Given the description of an element on the screen output the (x, y) to click on. 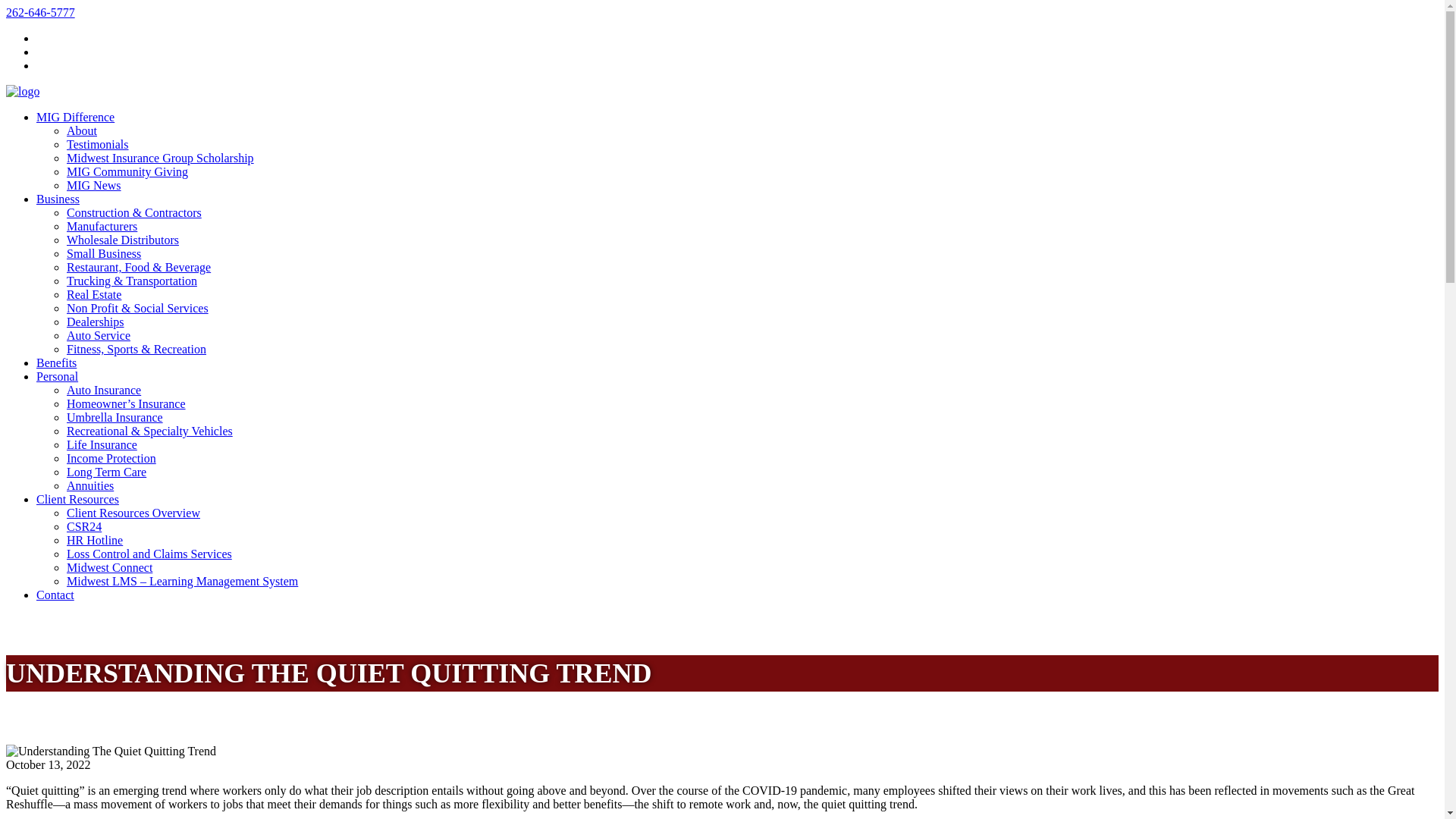
262-646-5777 (40, 11)
Midwest Connect (109, 567)
Income Protection (110, 458)
Umbrella Insurance (114, 417)
MIG News (93, 185)
CSR24 (83, 526)
Client Resources Overview (133, 512)
Auto Service (98, 335)
HR Hotline (94, 540)
Midwest Insurance Group Scholarship (159, 157)
Wholesale Distributors (122, 239)
Personal (57, 376)
Business (58, 198)
Life Insurance (101, 444)
MIG Community Giving (126, 171)
